Given the description of an element on the screen output the (x, y) to click on. 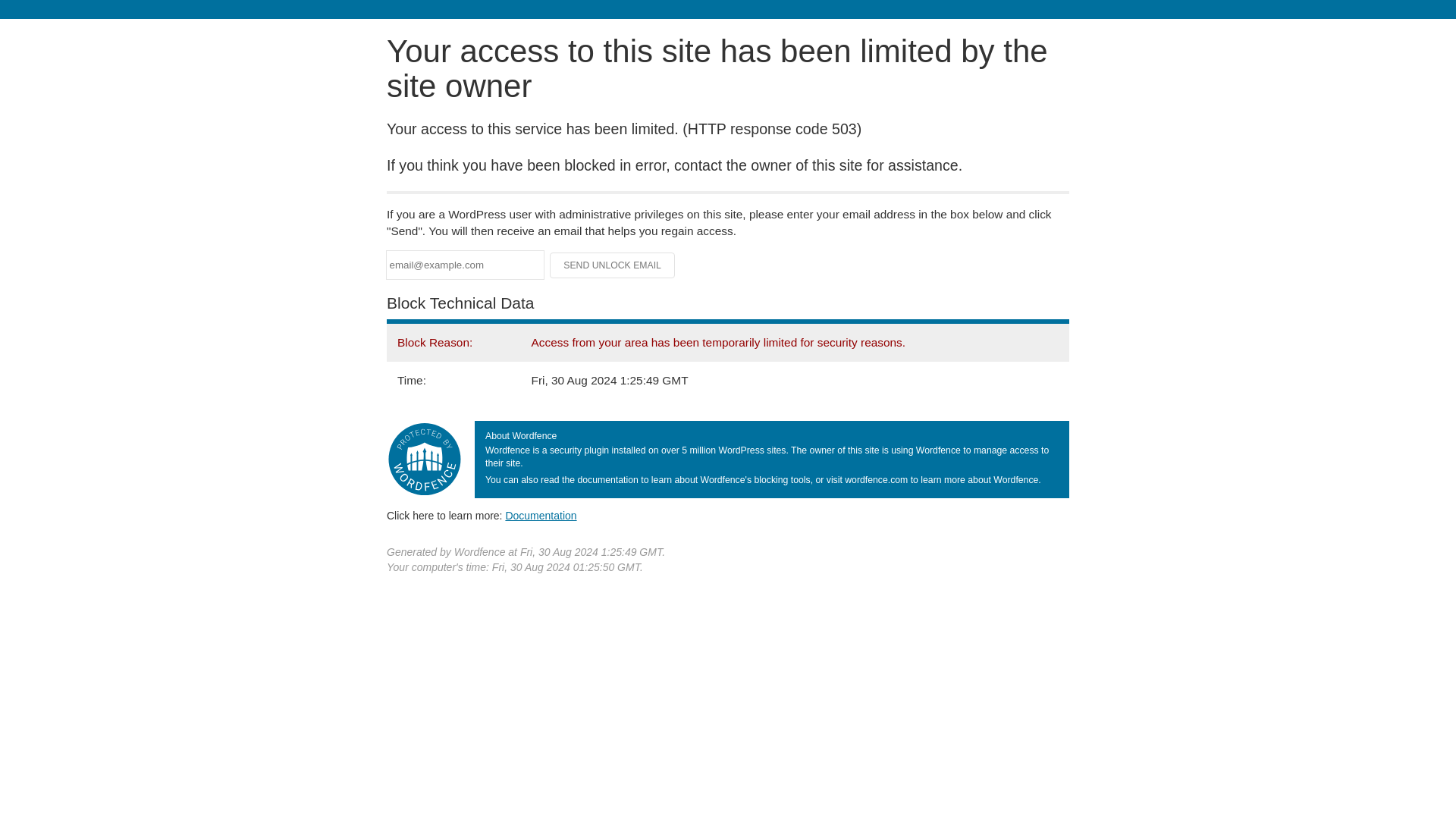
Send Unlock Email (612, 265)
Documentation (540, 515)
Send Unlock Email (612, 265)
